Given the description of an element on the screen output the (x, y) to click on. 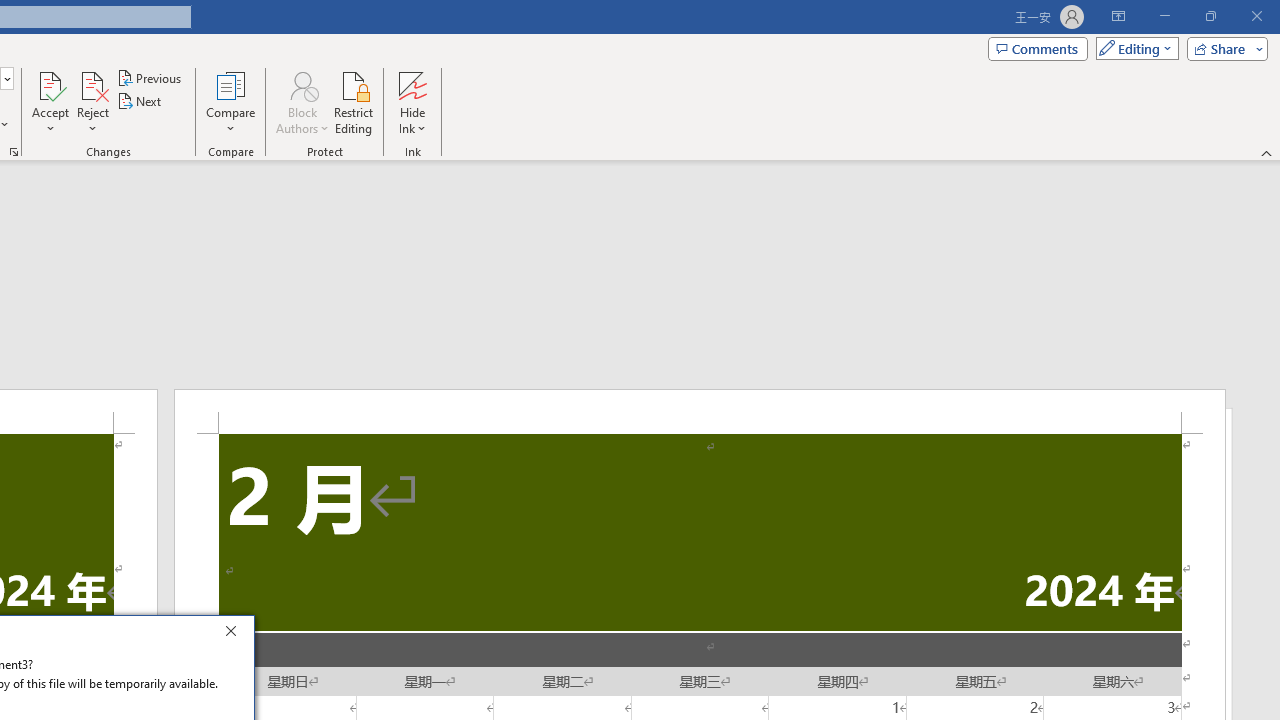
Reject and Move to Next (92, 84)
Reject (92, 102)
Block Authors (302, 102)
Compare (230, 102)
Open (6, 78)
